Given the description of an element on the screen output the (x, y) to click on. 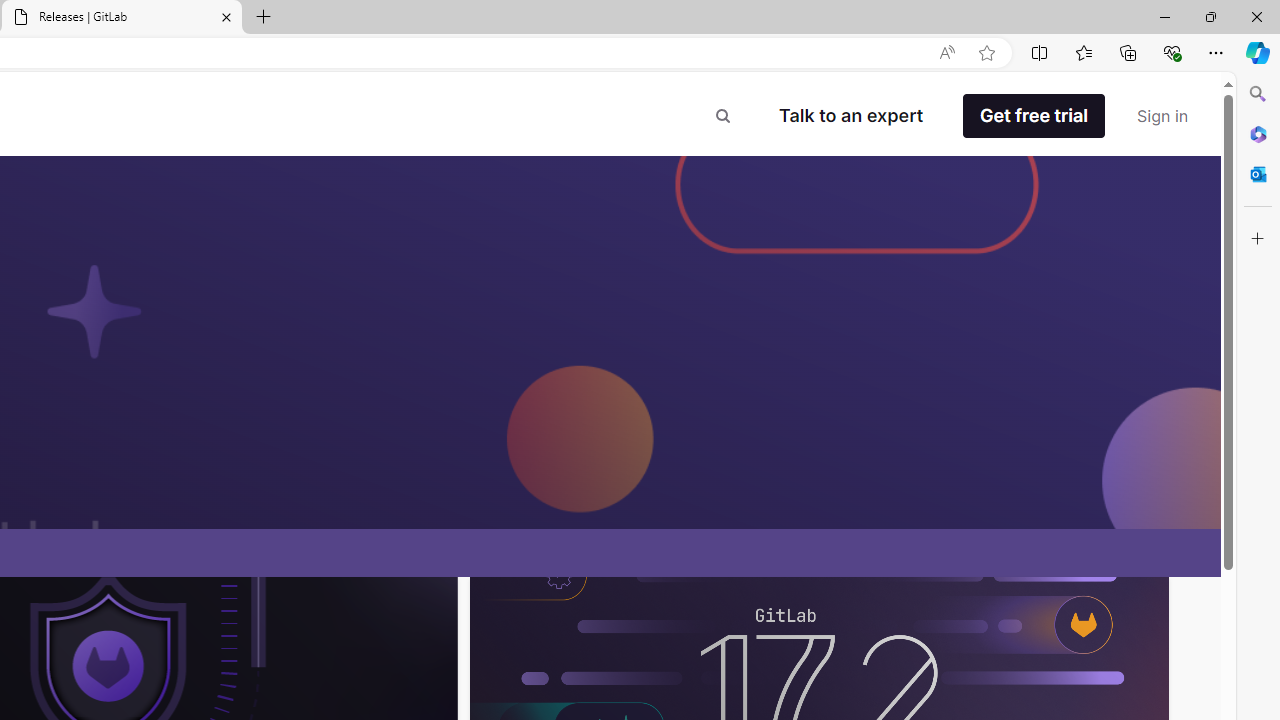
Talk to an expert (850, 115)
Get free trial (1033, 116)
Sign in (1162, 115)
